Given the description of an element on the screen output the (x, y) to click on. 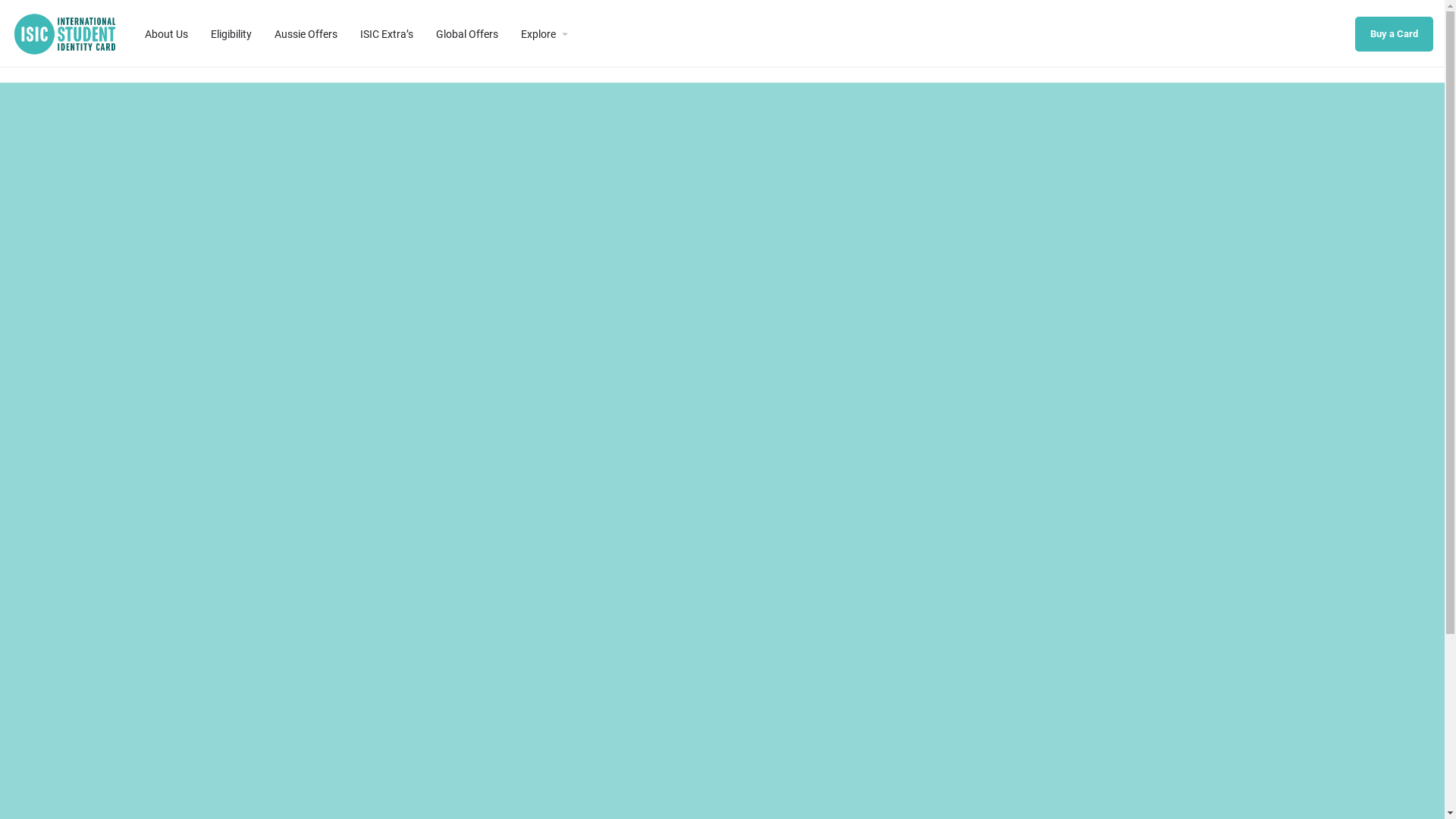
Aussie Offers Element type: text (305, 32)
Global Offers Element type: text (467, 32)
Buy a Card Element type: text (1394, 33)
Eligibility Element type: text (230, 32)
About Us Element type: text (166, 32)
Explore Element type: text (537, 32)
